Given the description of an element on the screen output the (x, y) to click on. 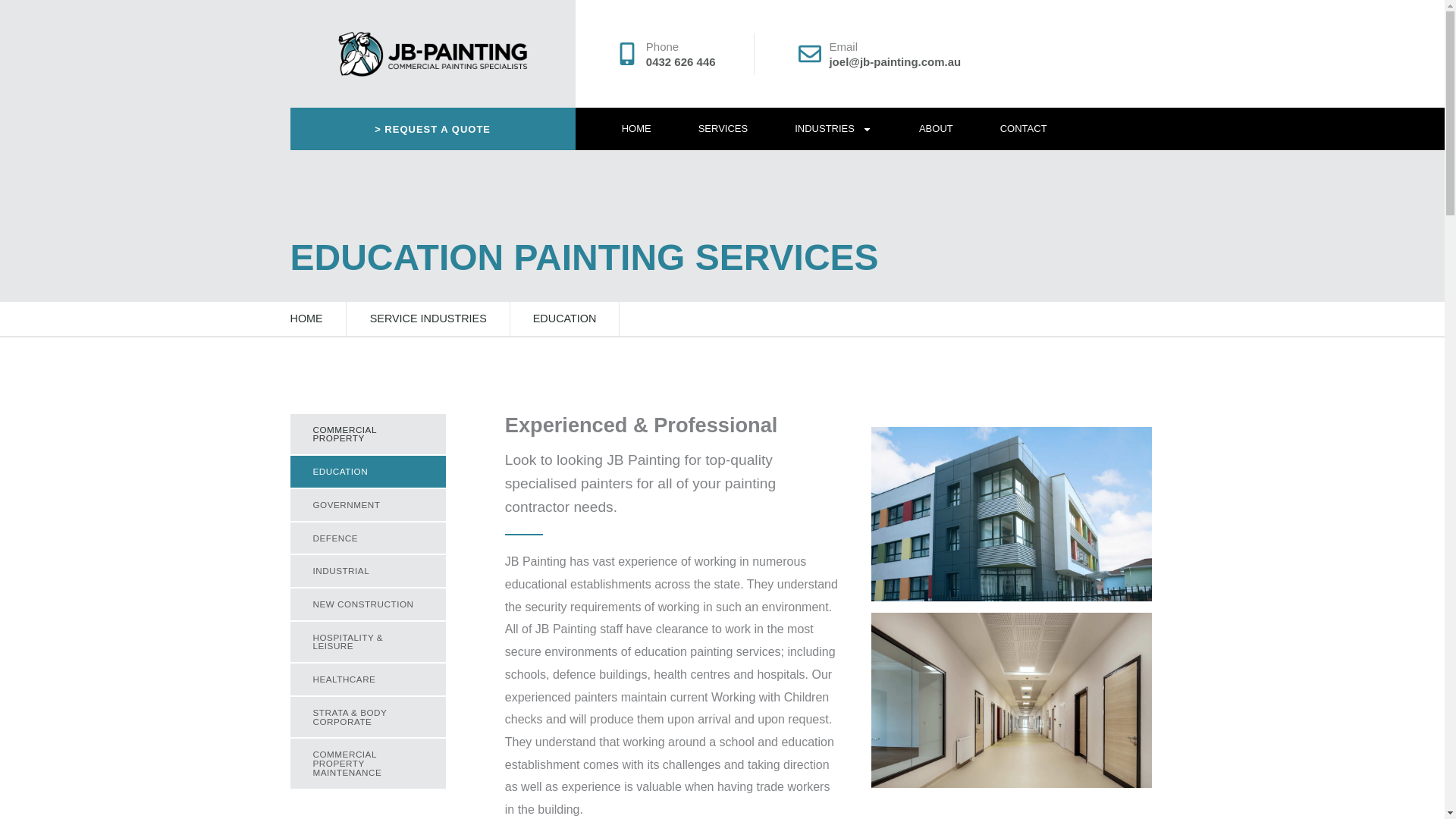
CONTACT (1023, 128)
HOME (636, 128)
Email (842, 46)
SERVICES (723, 128)
Phone (662, 46)
INDUSTRIES (833, 128)
ABOUT (935, 128)
